Given the description of an element on the screen output the (x, y) to click on. 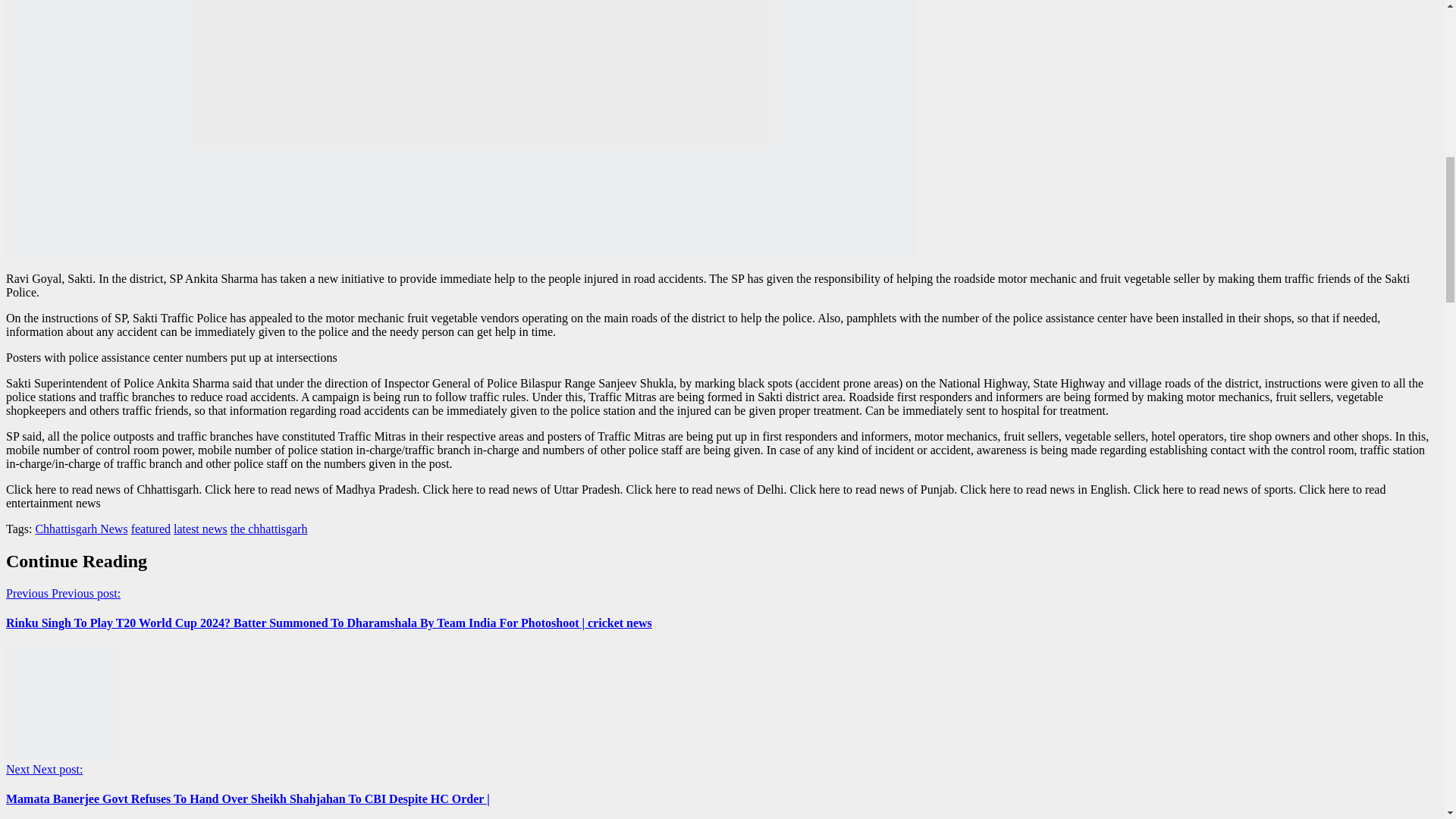
Chhattisgarh News (81, 528)
featured (150, 528)
latest news (200, 528)
the chhattisgarh (268, 528)
